Given the description of an element on the screen output the (x, y) to click on. 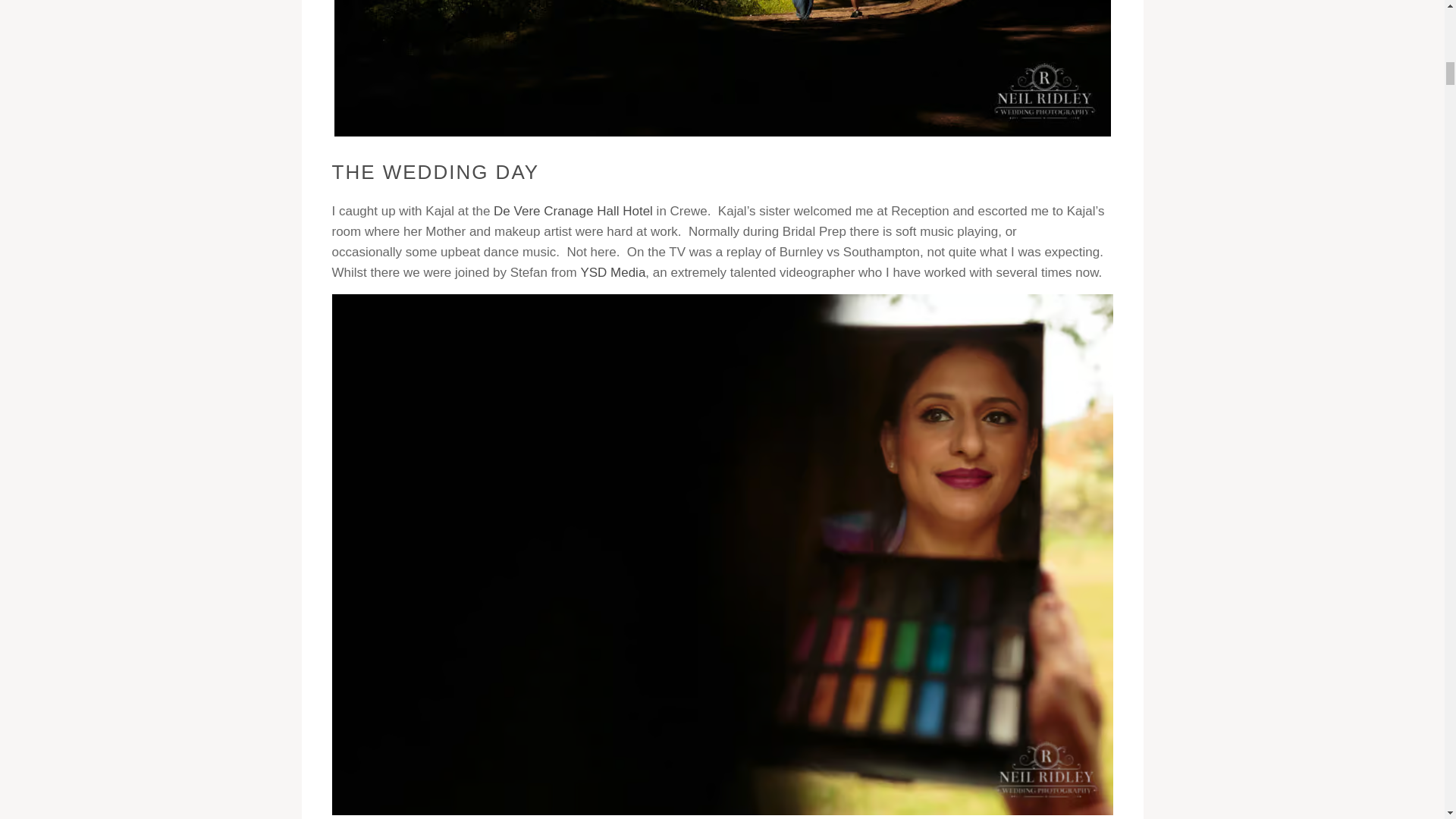
YSD Media (612, 272)
De Vere Cranage Hall Hotel (572, 210)
